Given the description of an element on the screen output the (x, y) to click on. 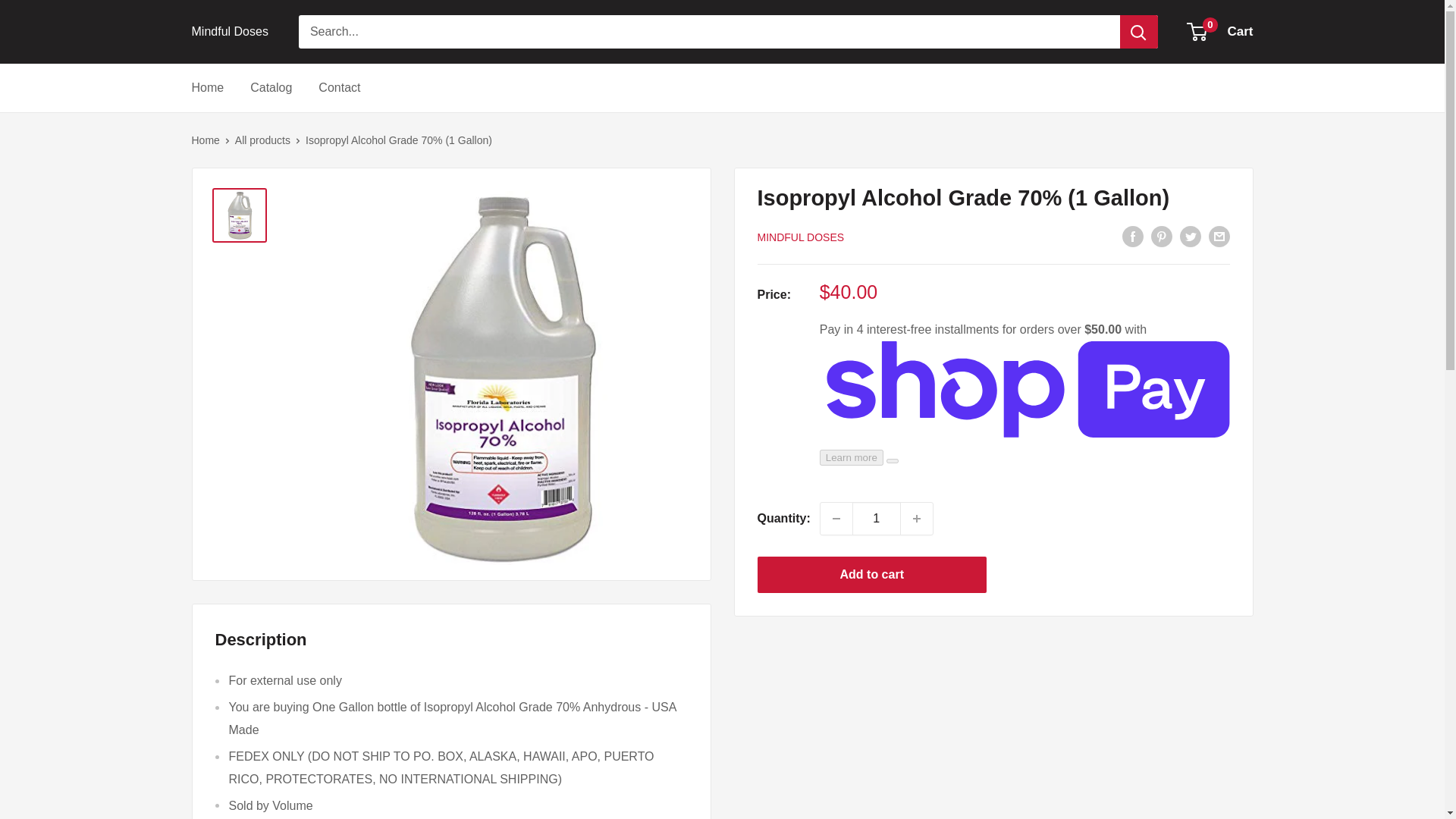
Home (207, 87)
Catalog (271, 87)
Contact (338, 87)
MINDFUL DOSES (800, 236)
Increase quantity by 1 (1220, 31)
Decrease quantity by 1 (917, 518)
1 (836, 518)
Home (876, 518)
Mindful Doses (204, 140)
Add to cart (228, 31)
All products (872, 574)
